Given the description of an element on the screen output the (x, y) to click on. 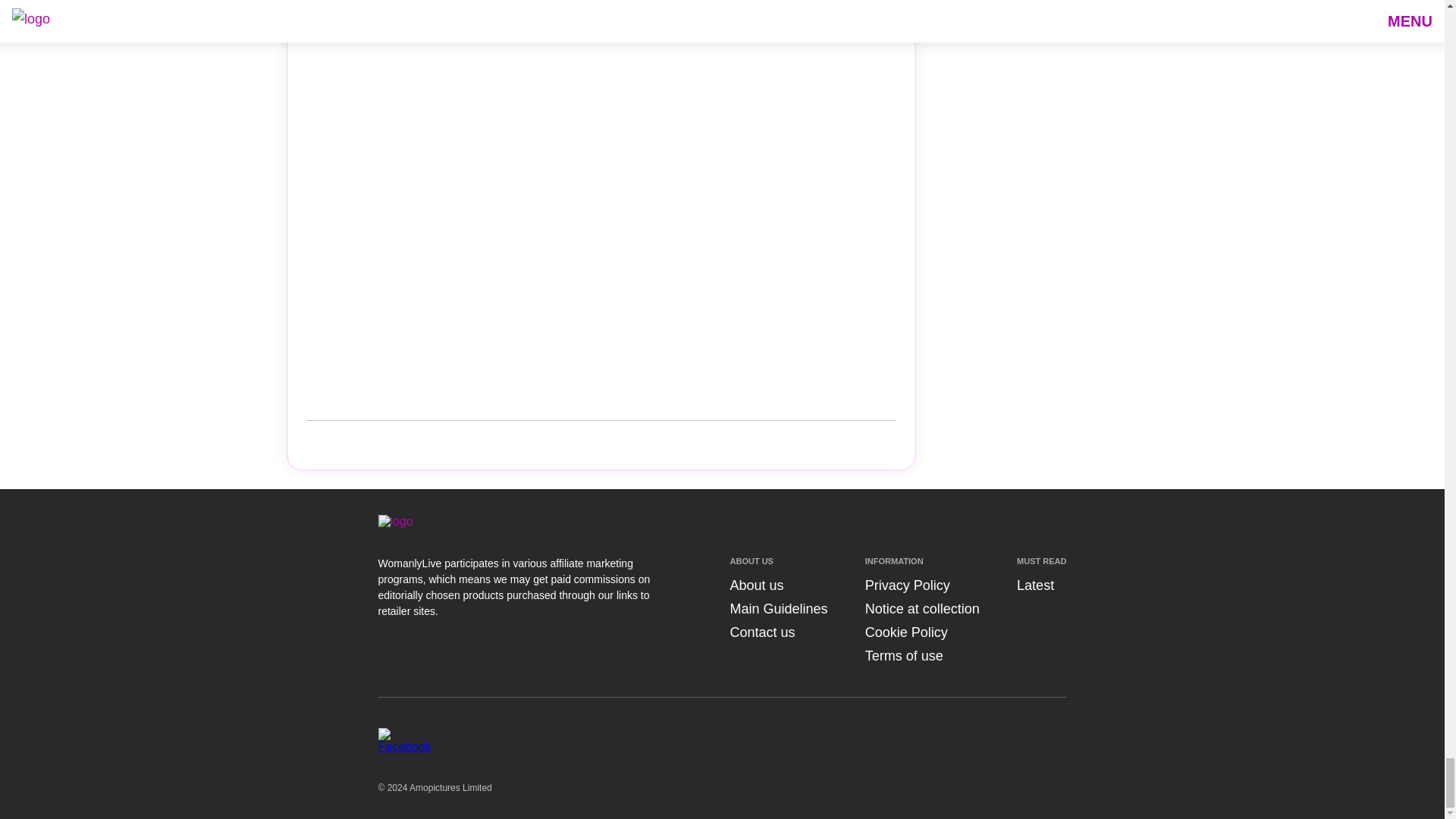
Notice at collection (921, 608)
Cookie Policy (905, 631)
Privacy Policy (907, 585)
About us (756, 585)
Contact us (761, 631)
Main Guidelines (778, 608)
